Given the description of an element on the screen output the (x, y) to click on. 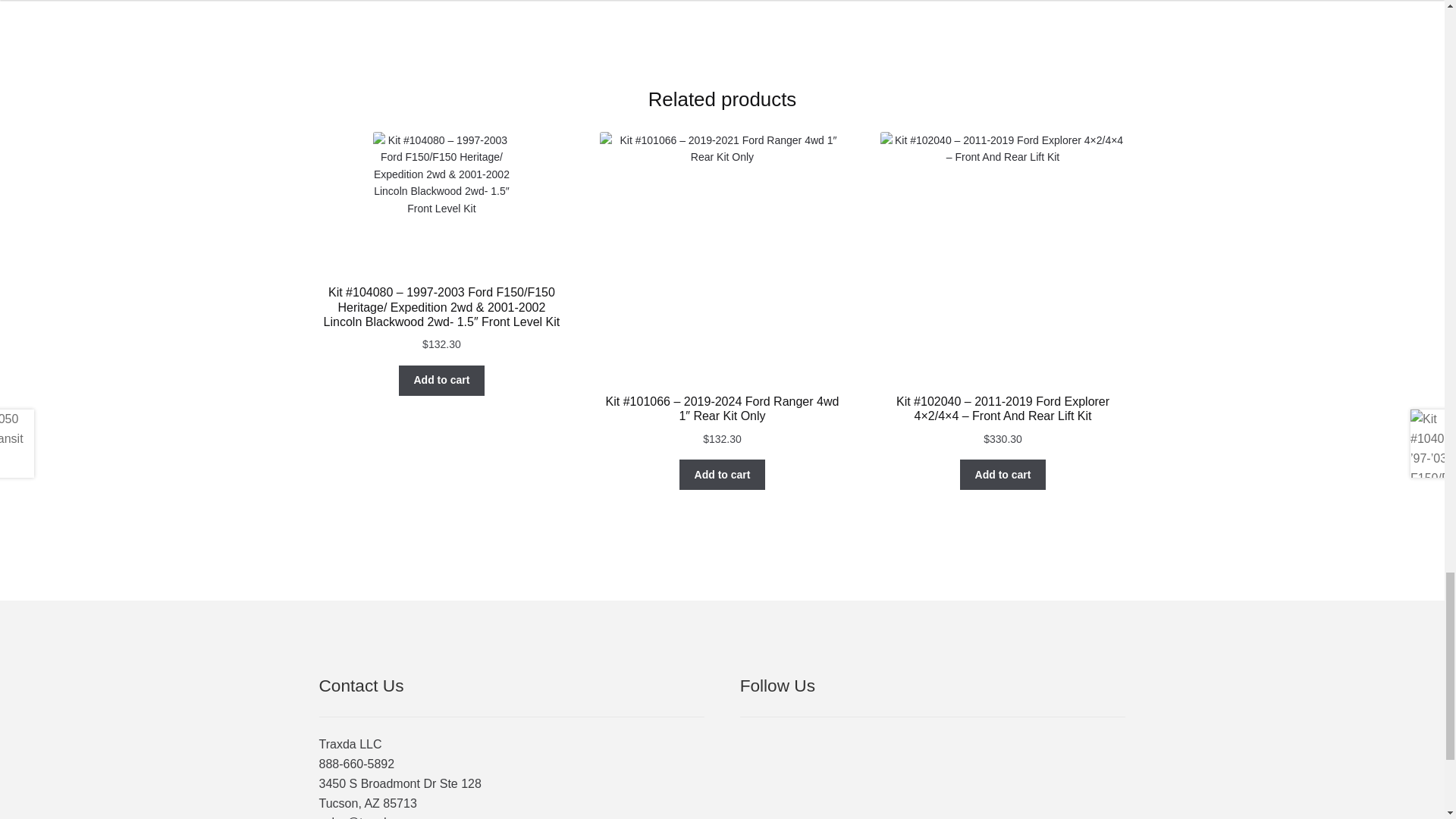
Add to cart (722, 474)
Add to cart (441, 380)
